Given the description of an element on the screen output the (x, y) to click on. 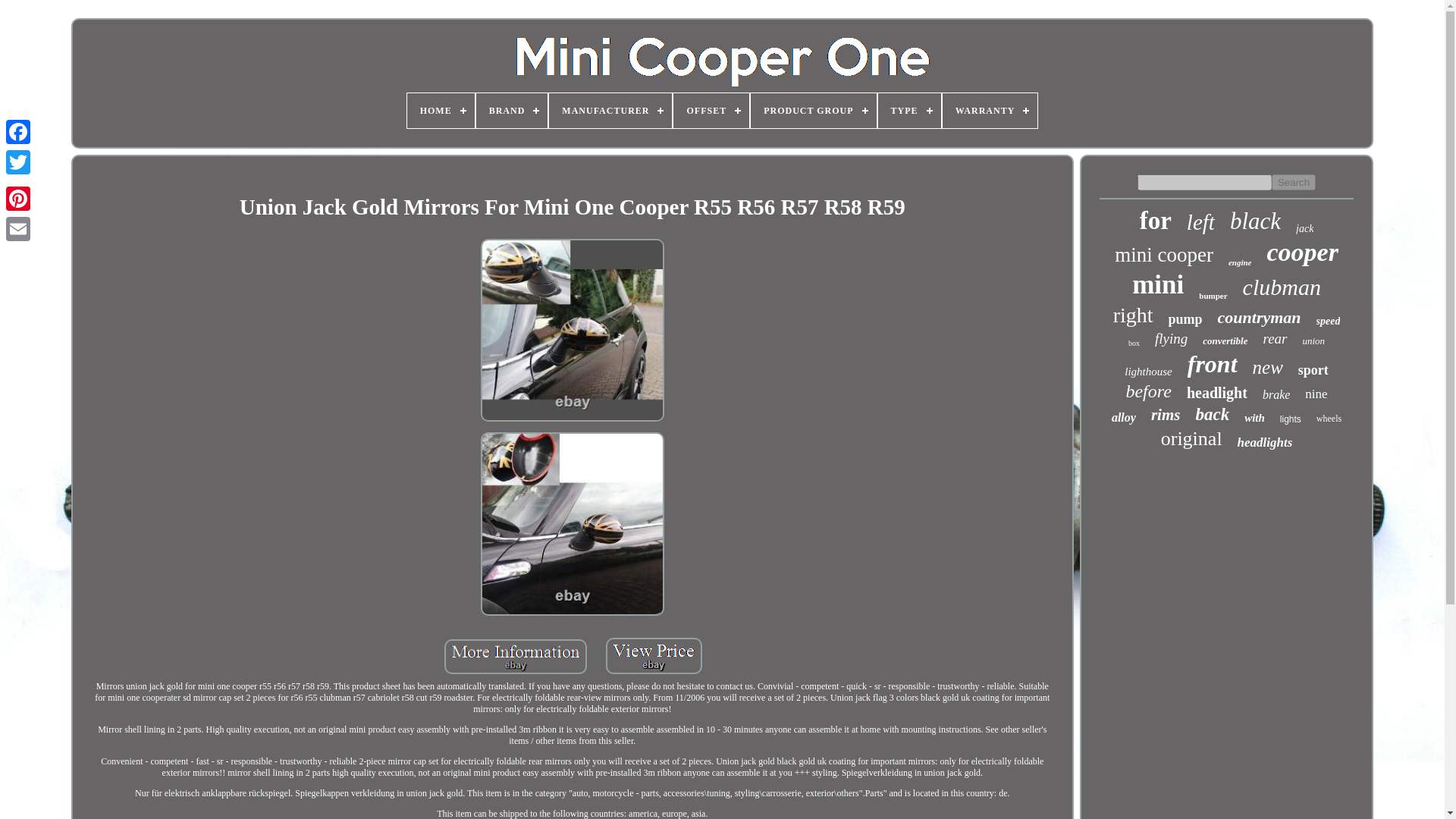
MANUFACTURER (609, 110)
BRAND (512, 110)
Search (1293, 182)
HOME (440, 110)
